Given the description of an element on the screen output the (x, y) to click on. 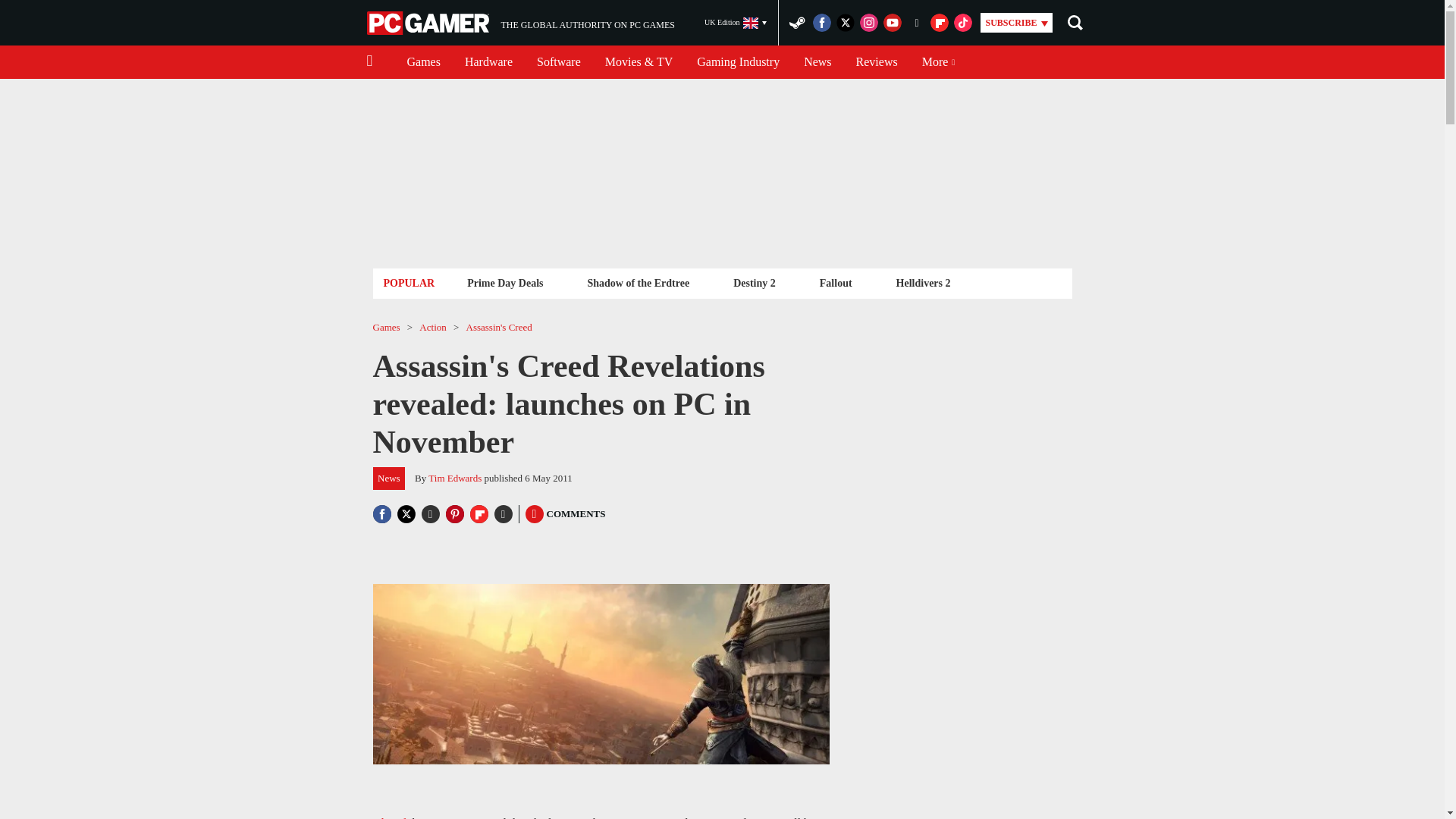
Reviews (877, 61)
Games (422, 61)
Prime Day Deals (504, 282)
Software (558, 61)
UK Edition (735, 22)
Shadow of the Erdtree (520, 22)
Hardware (637, 282)
PC Gamer (488, 61)
Gaming Industry (429, 22)
News (738, 61)
